Given the description of an element on the screen output the (x, y) to click on. 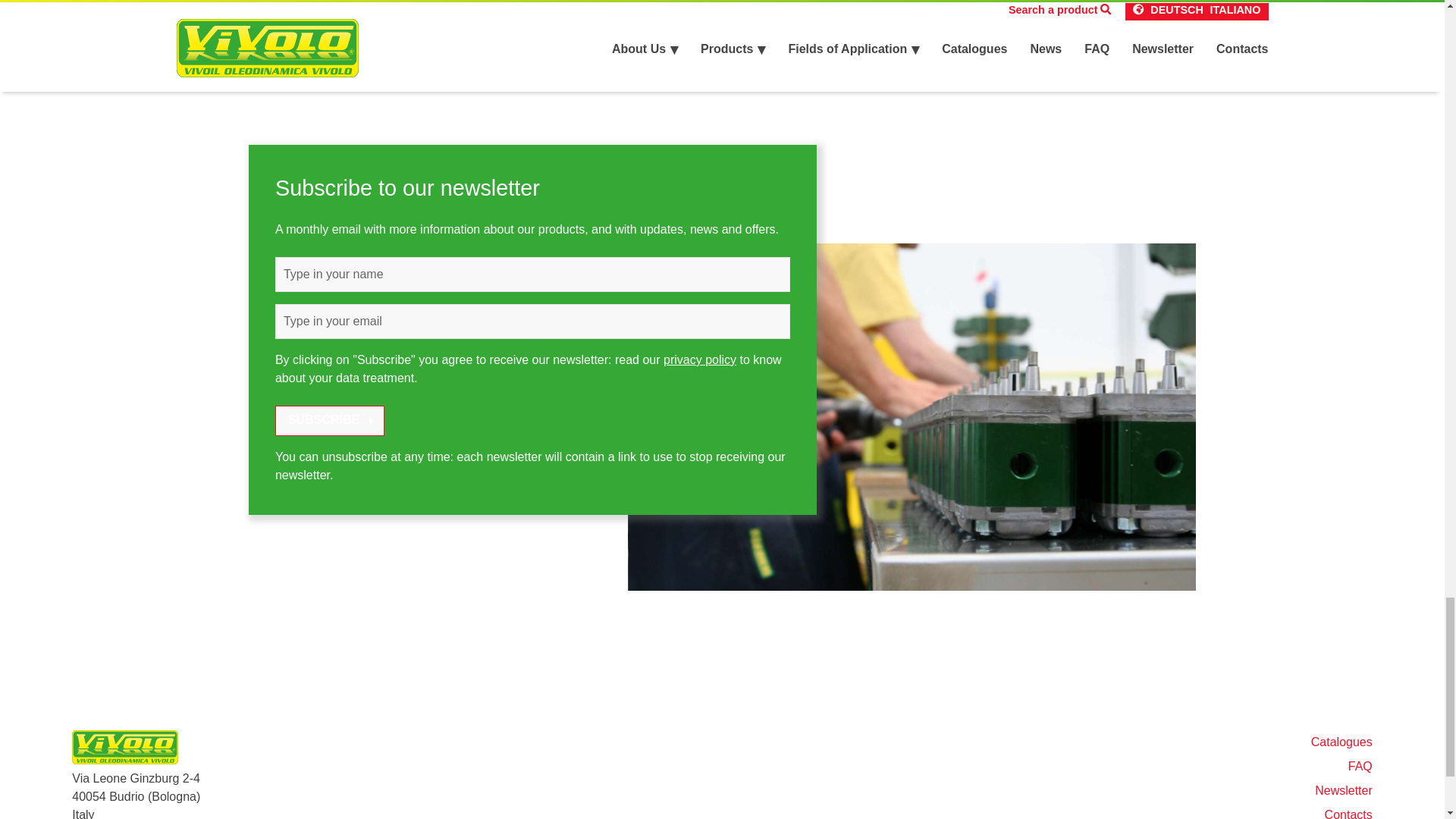
Subscribe (329, 420)
Read the article (968, 58)
Read the article (312, 35)
Read the article (640, 13)
